Given the description of an element on the screen output the (x, y) to click on. 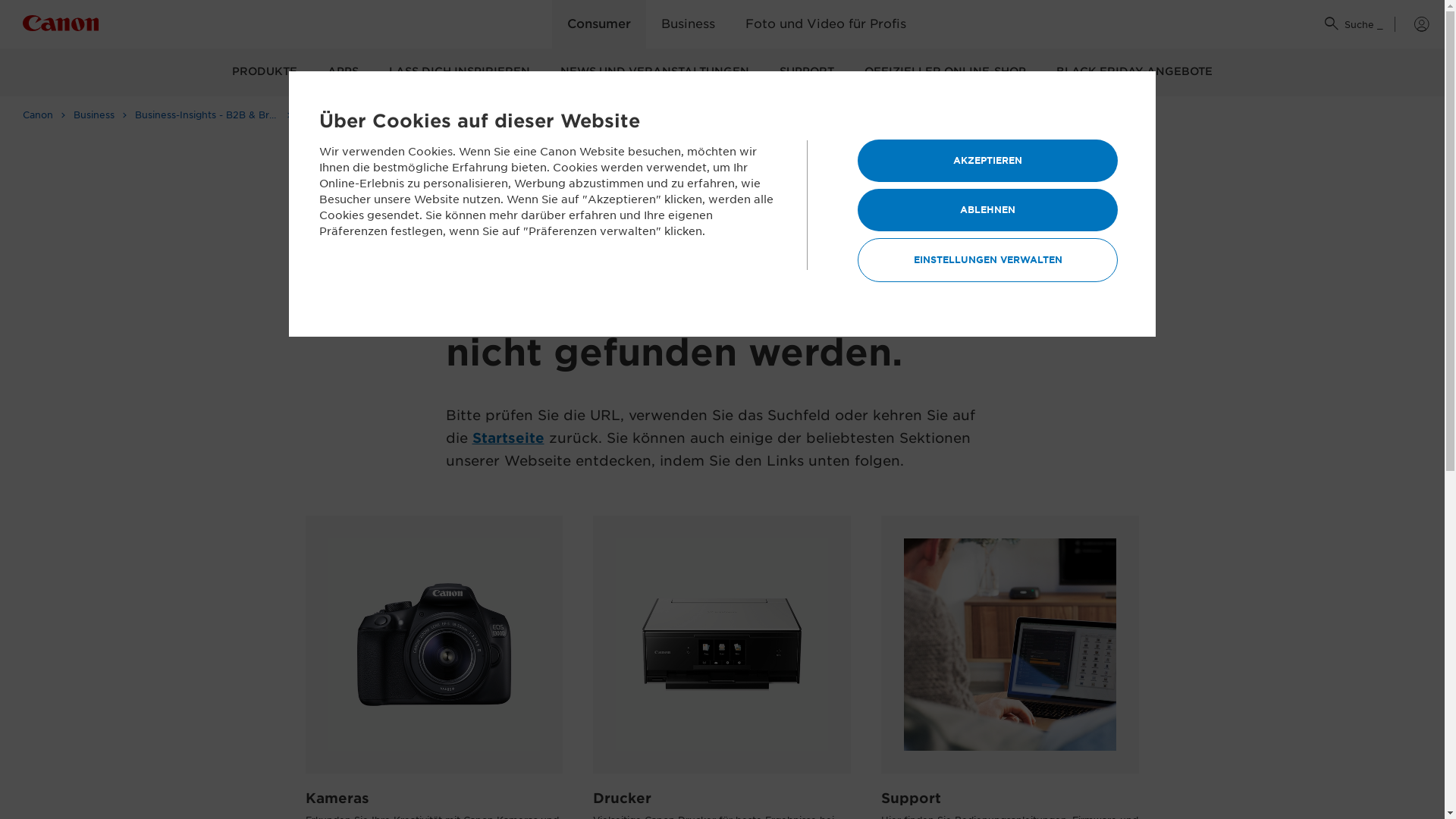
Kameras Element type: text (336, 798)
Startseite Element type: text (507, 437)
Consumer Element type: text (599, 24)
Mein Canon Element type: text (1411, 23)
NEWS UND VERANSTALTUNGEN Element type: text (654, 72)
Canon Element type: text (43, 114)
Support Element type: text (911, 798)
PRODUKTE Element type: text (264, 72)
LASS DICH INSPIRIEREN Element type: text (459, 72)
EINSTELLUNGEN VERWALTEN Element type: text (987, 260)
Anwenderberichte - Canon Schweiz Element type: text (377, 114)
OFFIZIELLER ONLINE-SHOP Element type: text (945, 72)
AKZEPTIEREN Element type: text (987, 160)
APPS Element type: text (342, 72)
Canon Logo Element type: text (60, 26)
ABLEHNEN Element type: text (987, 209)
Drucker Element type: text (622, 798)
SUPPORT Element type: text (806, 72)
Business Element type: text (688, 24)
Business Element type: text (100, 114)
BLACK FRIDAY-ANGEBOTE Element type: text (1134, 72)
Business-Insights - B2B & Branchen-News Element type: text (212, 114)
